Given the description of an element on the screen output the (x, y) to click on. 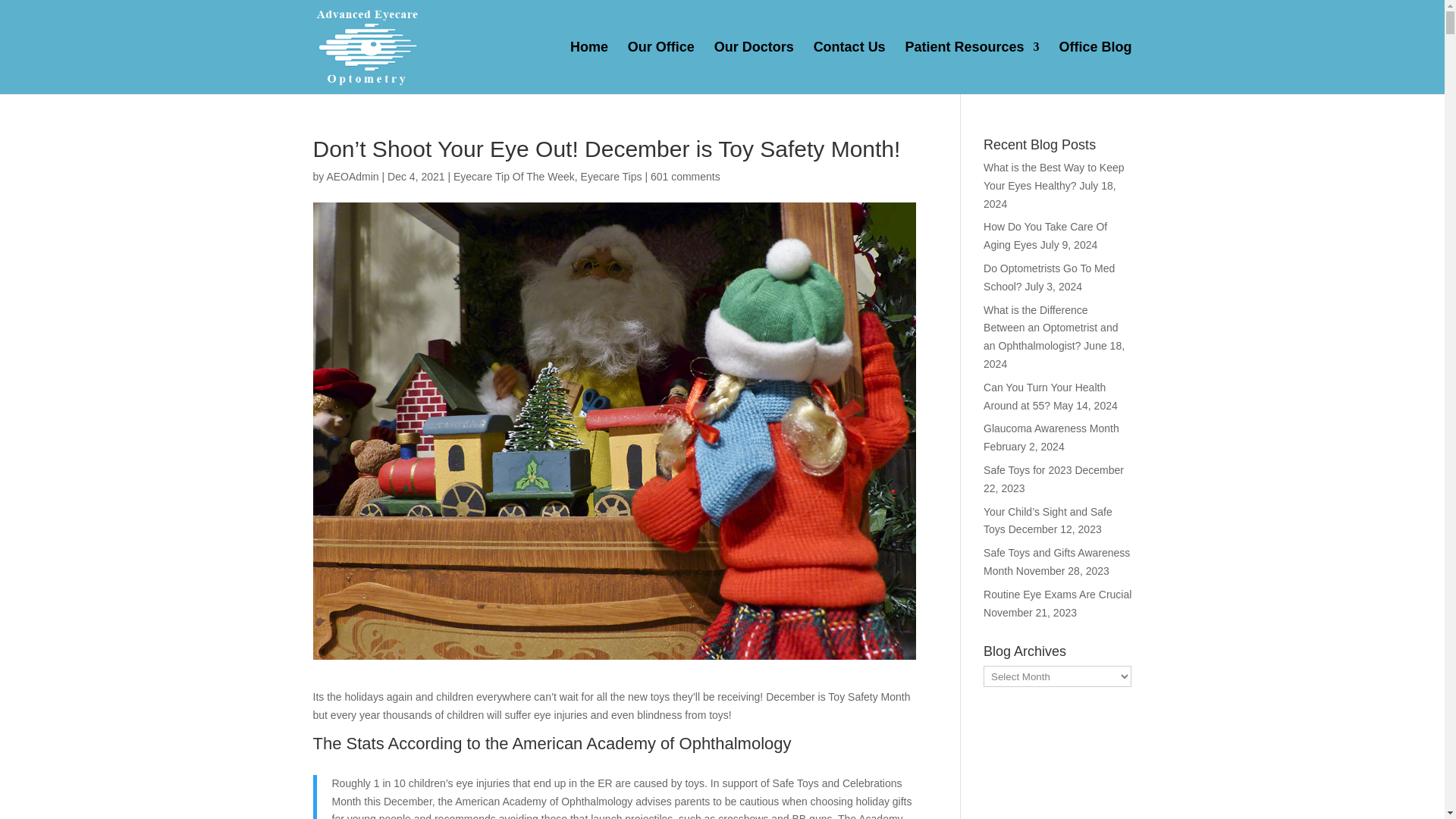
Posts by AEOAdmin (352, 176)
601 comments (685, 176)
Eyecare Tips (611, 176)
Our Office (660, 67)
Contact Us (849, 67)
Home (589, 67)
AEOAdmin (352, 176)
Patient Resources (972, 67)
Eyecare Tip Of The Week (513, 176)
Our Doctors (753, 67)
Office Blog (1094, 67)
